Given the description of an element on the screen output the (x, y) to click on. 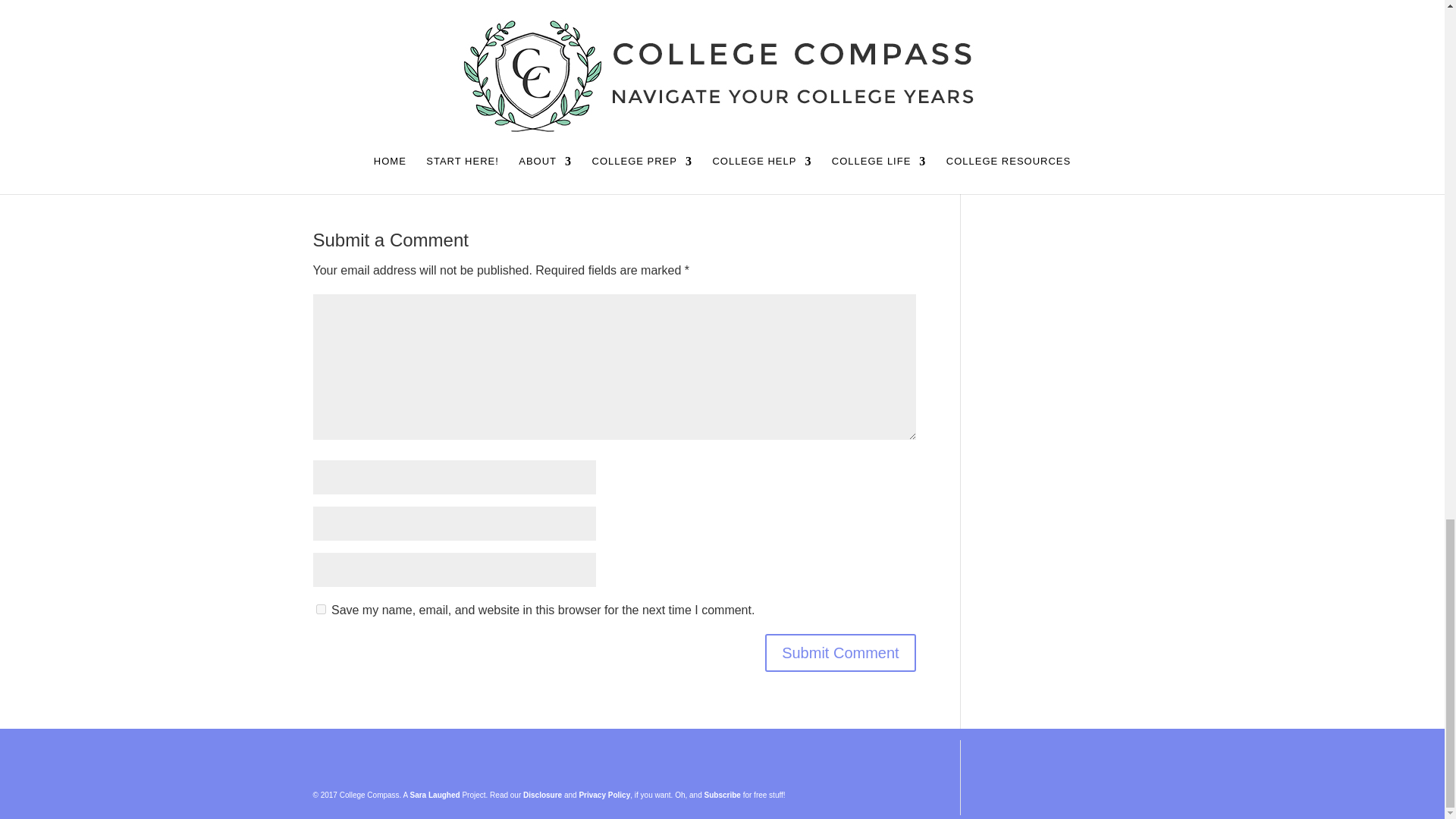
Submit Comment (840, 652)
yes (319, 609)
